Given the description of an element on the screen output the (x, y) to click on. 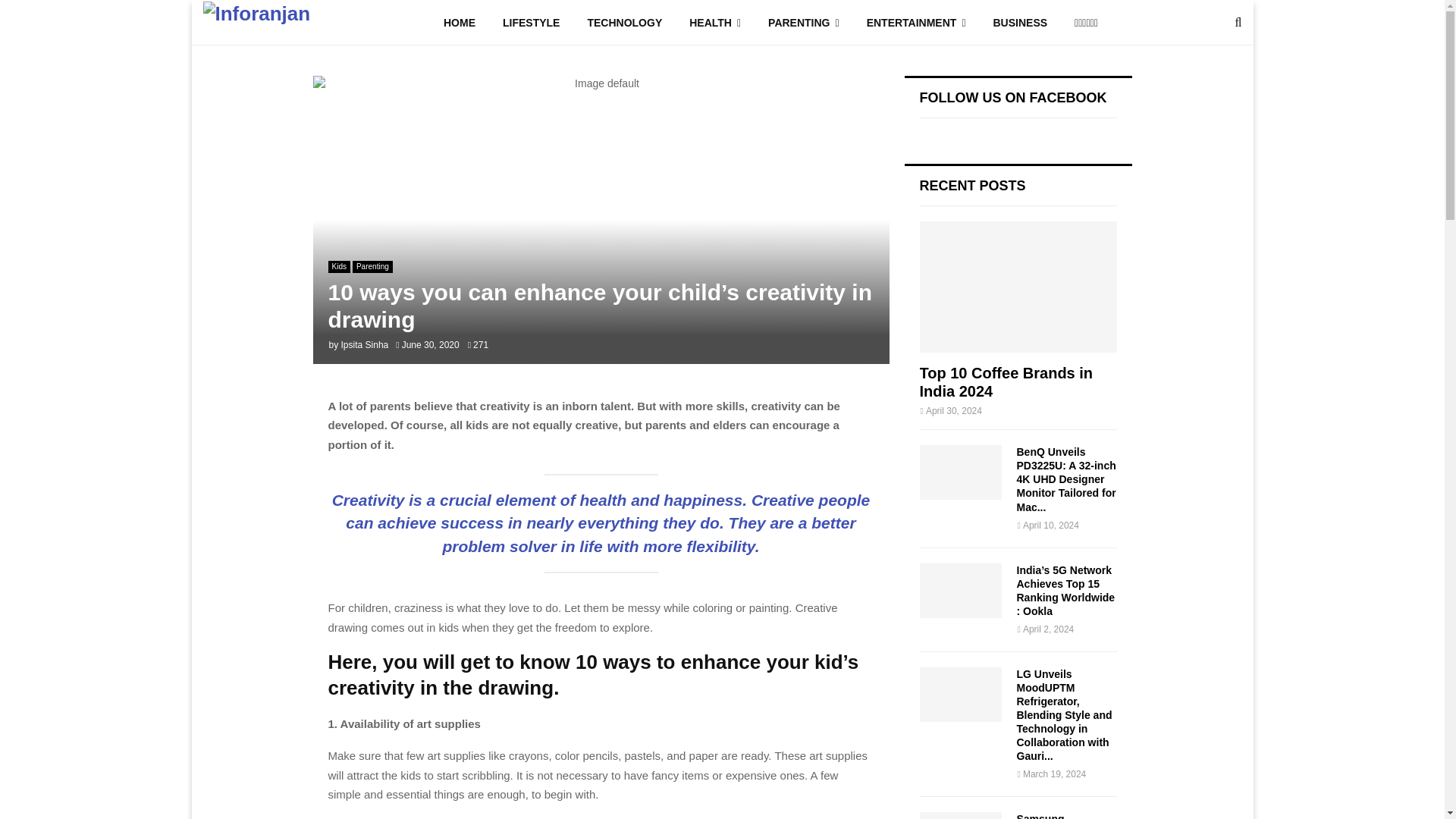
BUSINESS (1020, 22)
Kids (338, 266)
PARENTING (803, 22)
LIFESTYLE (531, 22)
Top 10 Coffee Brands in India 2024 (1017, 286)
 Top 10 Coffee Brands in India 2024  (1005, 381)
ENTERTAINMENT (916, 22)
Ipsita Sinha (364, 344)
